Given the description of an element on the screen output the (x, y) to click on. 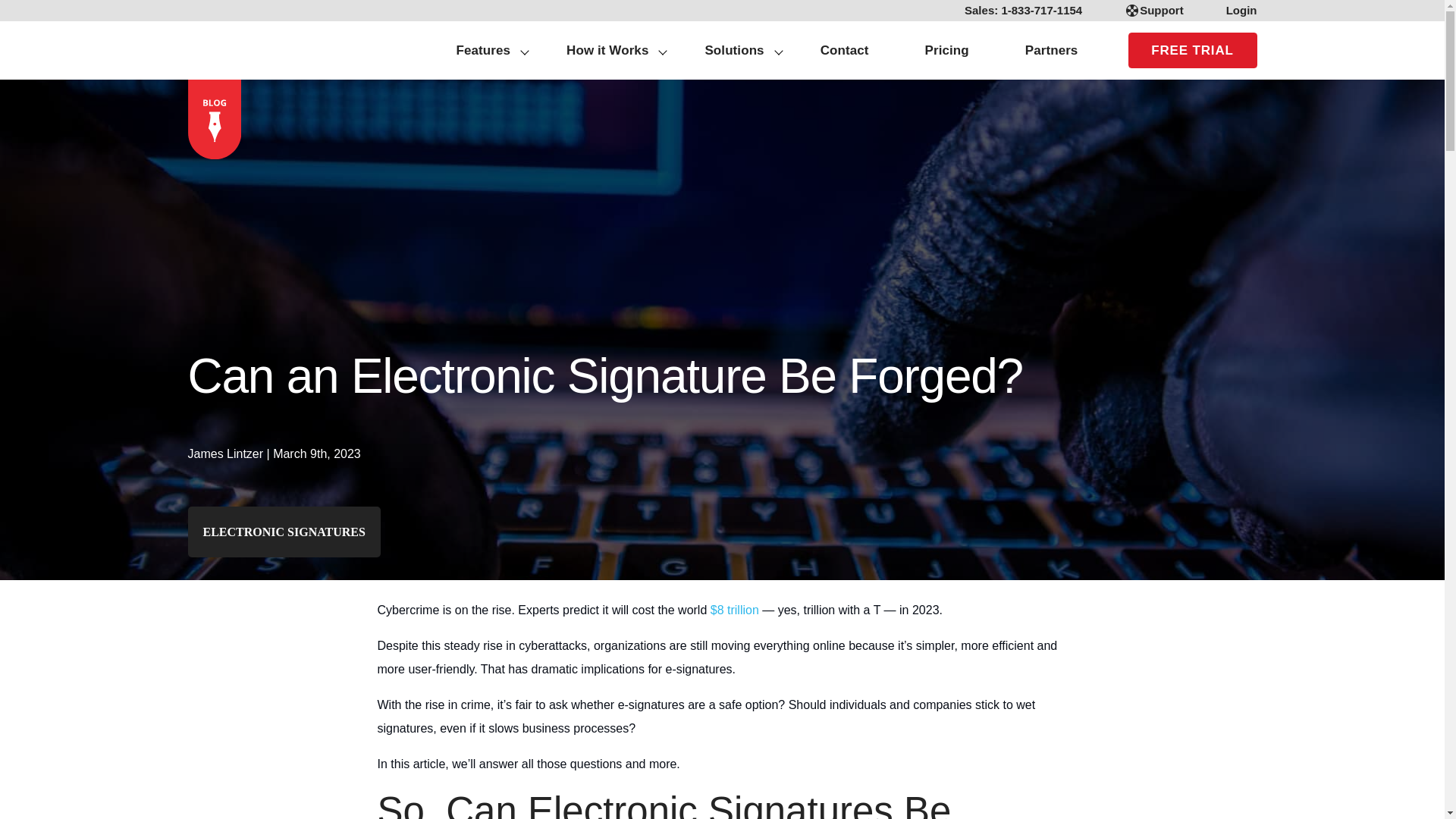
Partners (1051, 50)
How it Works (607, 50)
Support (1154, 10)
Pricing (946, 50)
Login (1231, 10)
Contact (844, 50)
FREE TRIAL (1192, 50)
Features (476, 50)
Solutions (734, 50)
Sales: 1-833-717-1154 (1023, 10)
